Given the description of an element on the screen output the (x, y) to click on. 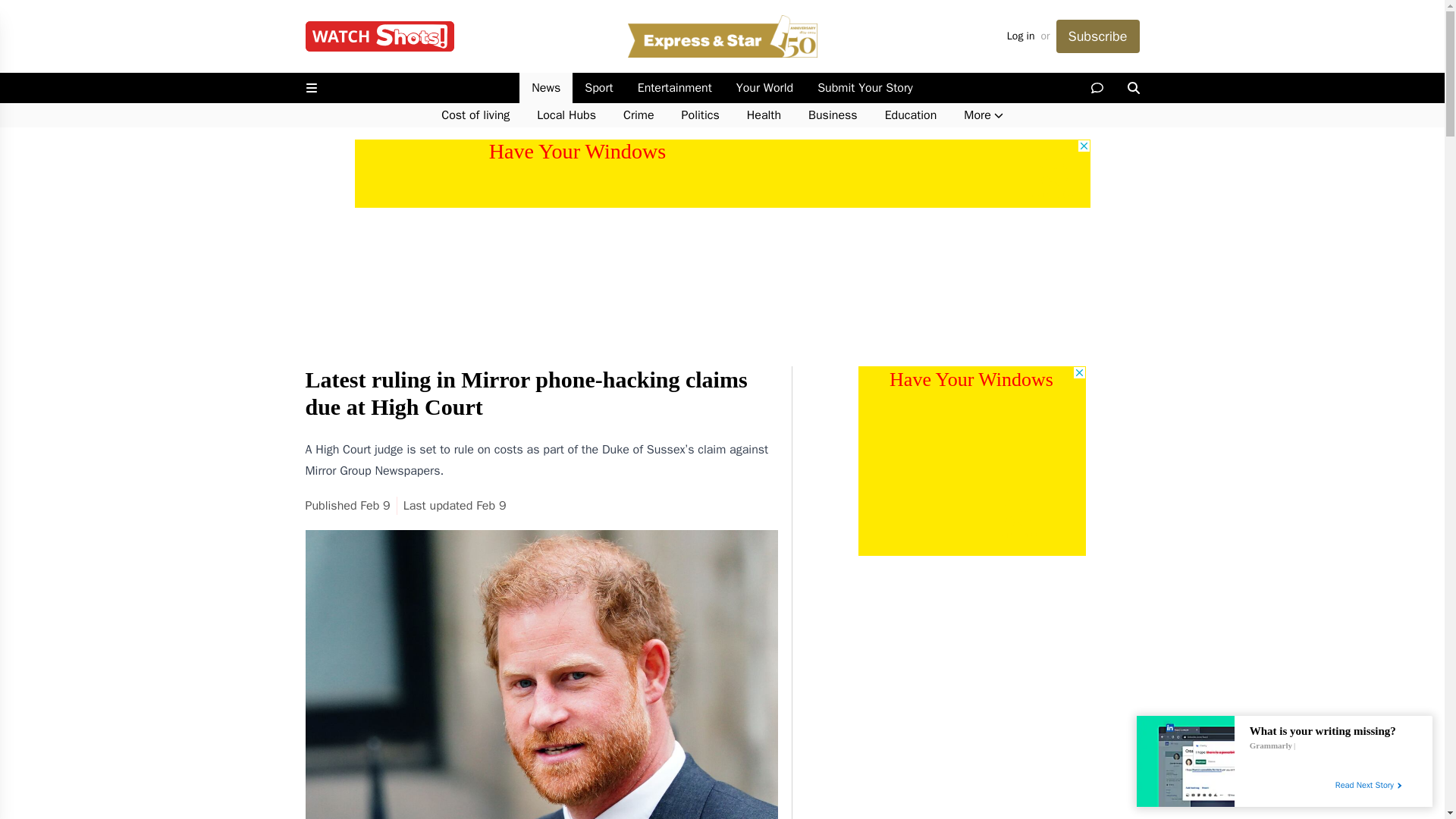
News (545, 87)
Log in (1021, 36)
Subscribe (1096, 36)
Health (764, 115)
Business (832, 115)
Crime (638, 115)
Education (910, 115)
More (983, 115)
Cost of living (475, 115)
Local Hubs (566, 115)
3rd party ad content (722, 173)
Entertainment (674, 87)
Your World (764, 87)
Submit Your Story (864, 87)
Sport (598, 87)
